Given the description of an element on the screen output the (x, y) to click on. 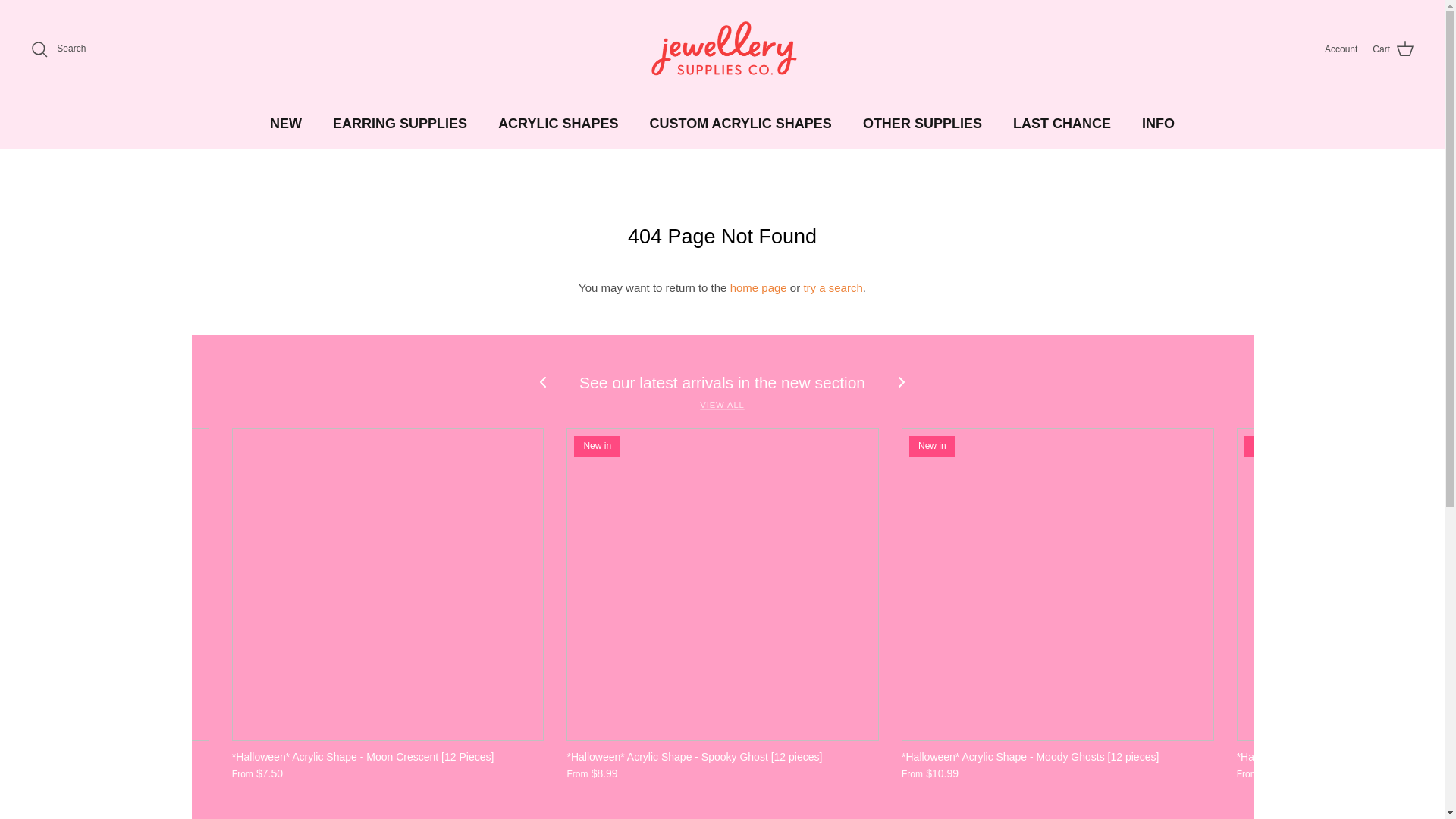
EARRING SUPPLIES (399, 123)
Cart (1393, 48)
Jewellery Supplies Co (721, 49)
NEW (285, 123)
ACRYLIC SHAPES (557, 123)
Search (57, 49)
Account (1340, 49)
